Given the description of an element on the screen output the (x, y) to click on. 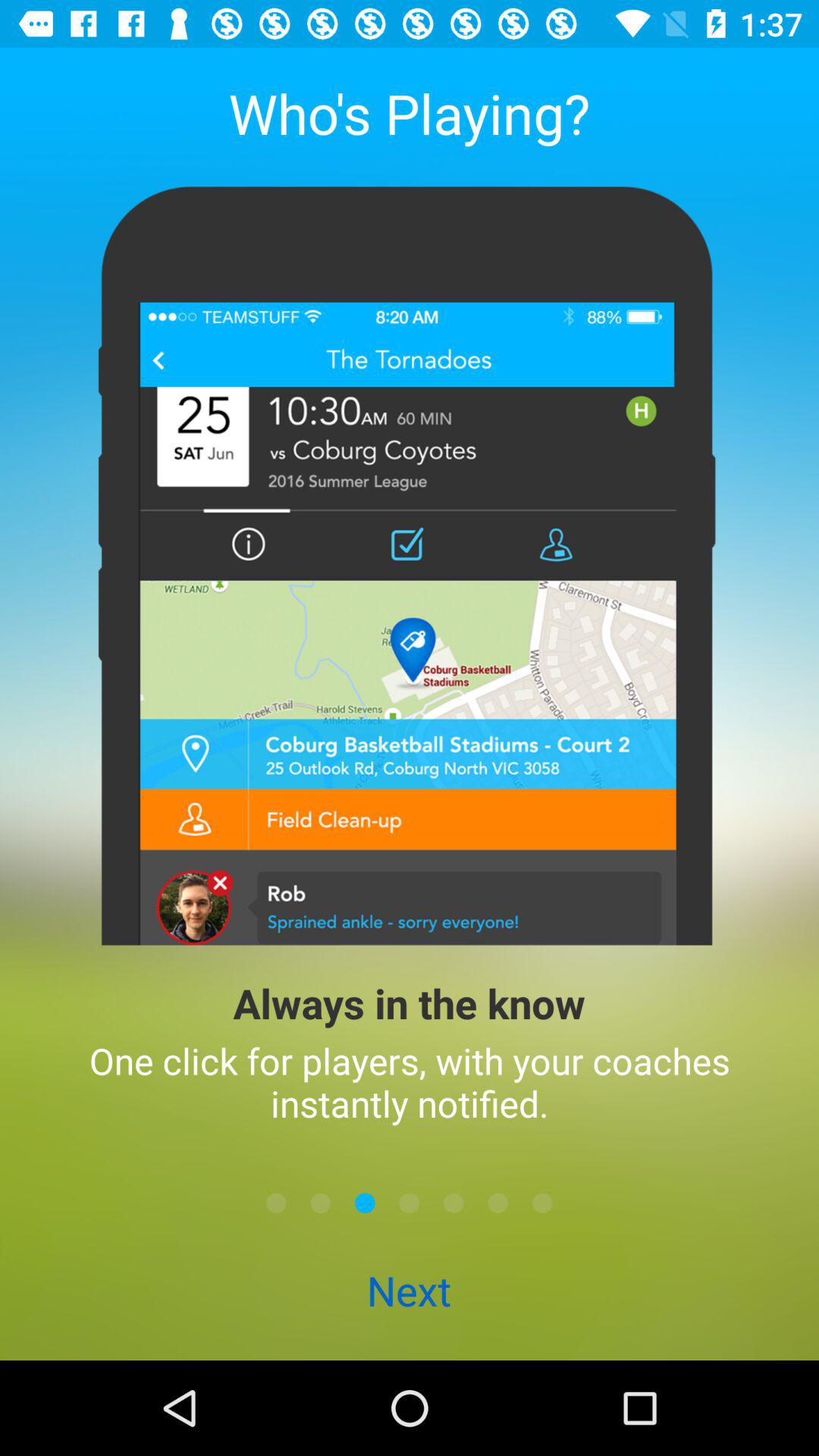
last page (542, 1203)
